Given the description of an element on the screen output the (x, y) to click on. 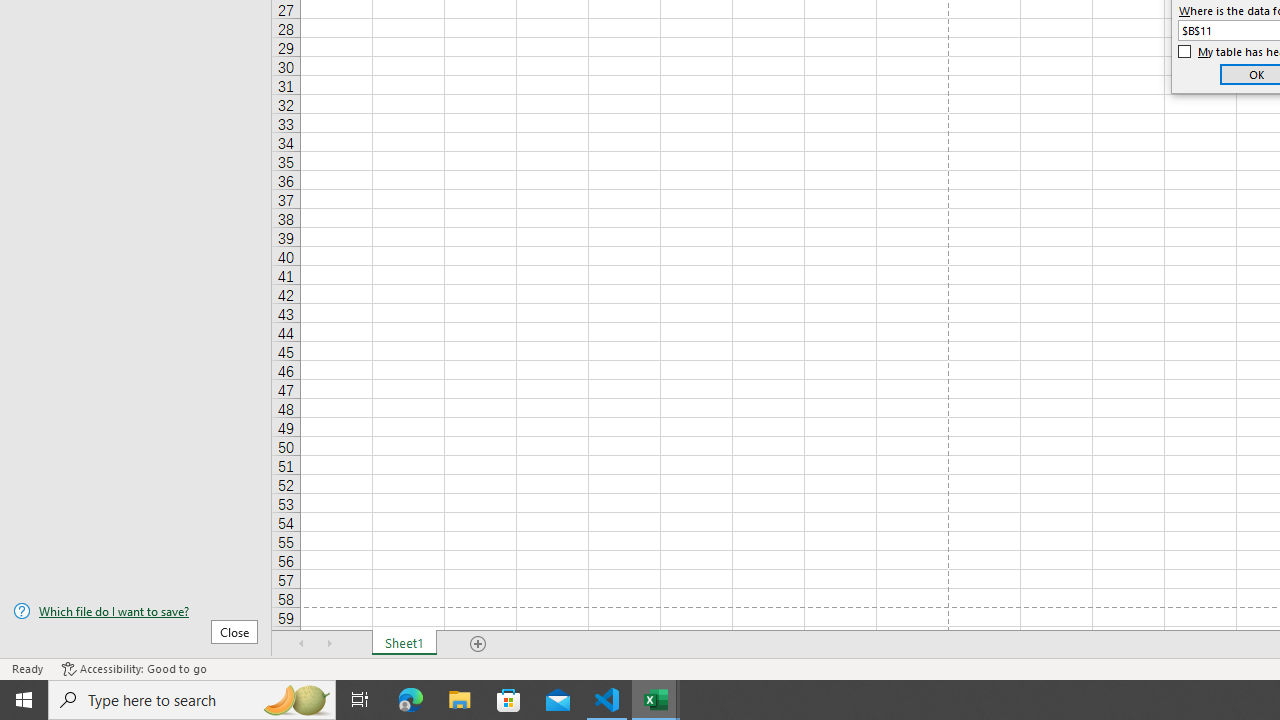
Which file do I want to save? (136, 611)
Add Sheet (478, 644)
Scroll Left (302, 644)
Sheet1 (404, 644)
Accessibility Checker Accessibility: Good to go (134, 668)
Scroll Right (330, 644)
